Given the description of an element on the screen output the (x, y) to click on. 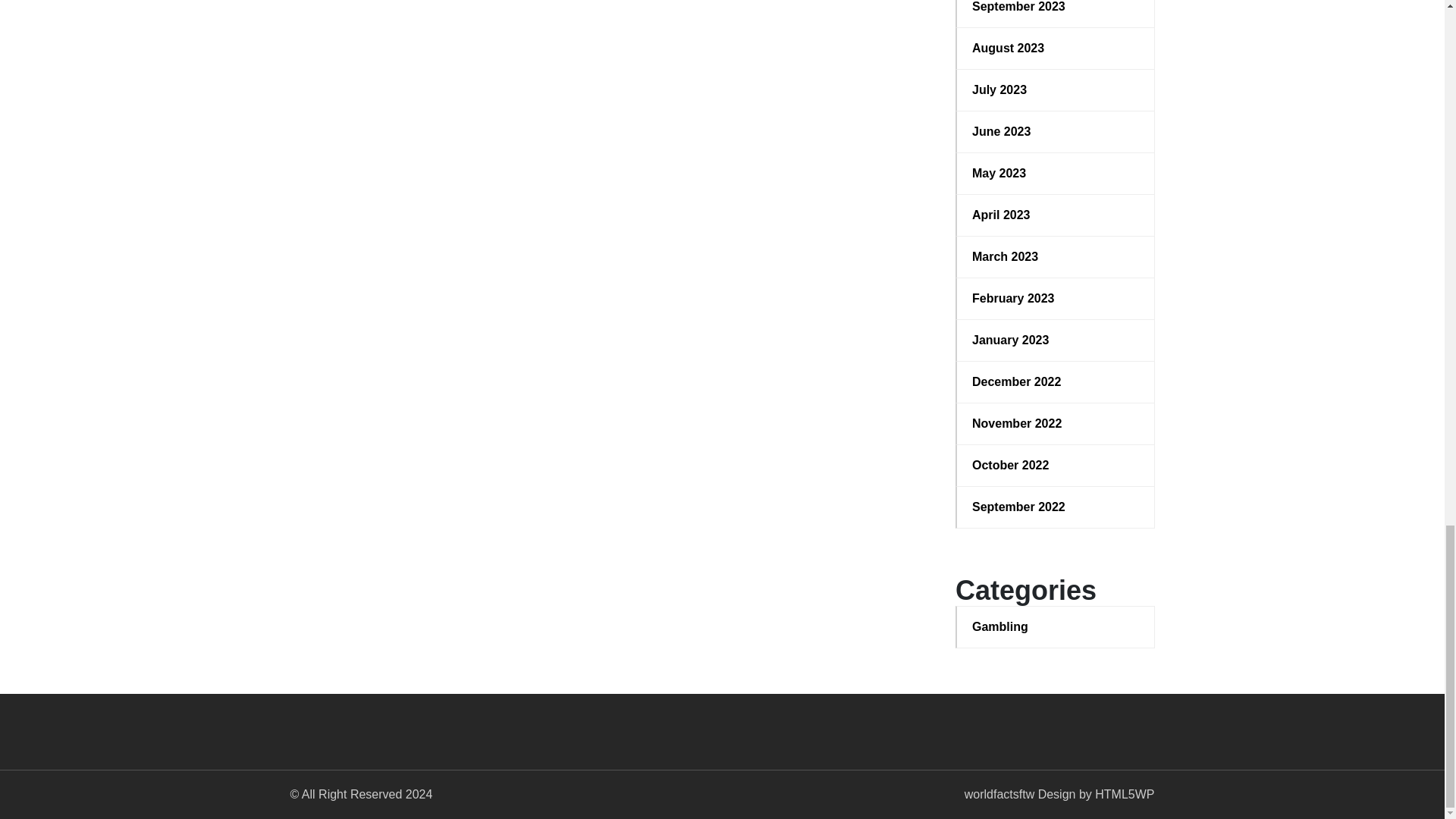
June 2023 (1055, 131)
May 2023 (1055, 173)
January 2023 (1055, 340)
October 2022 (1055, 465)
September 2023 (1055, 7)
September 2022 (1055, 506)
November 2022 (1055, 423)
July 2023 (1055, 90)
March 2023 (1055, 257)
April 2023 (1055, 215)
December 2022 (1055, 382)
August 2023 (1055, 48)
February 2023 (1055, 298)
